Given the description of an element on the screen output the (x, y) to click on. 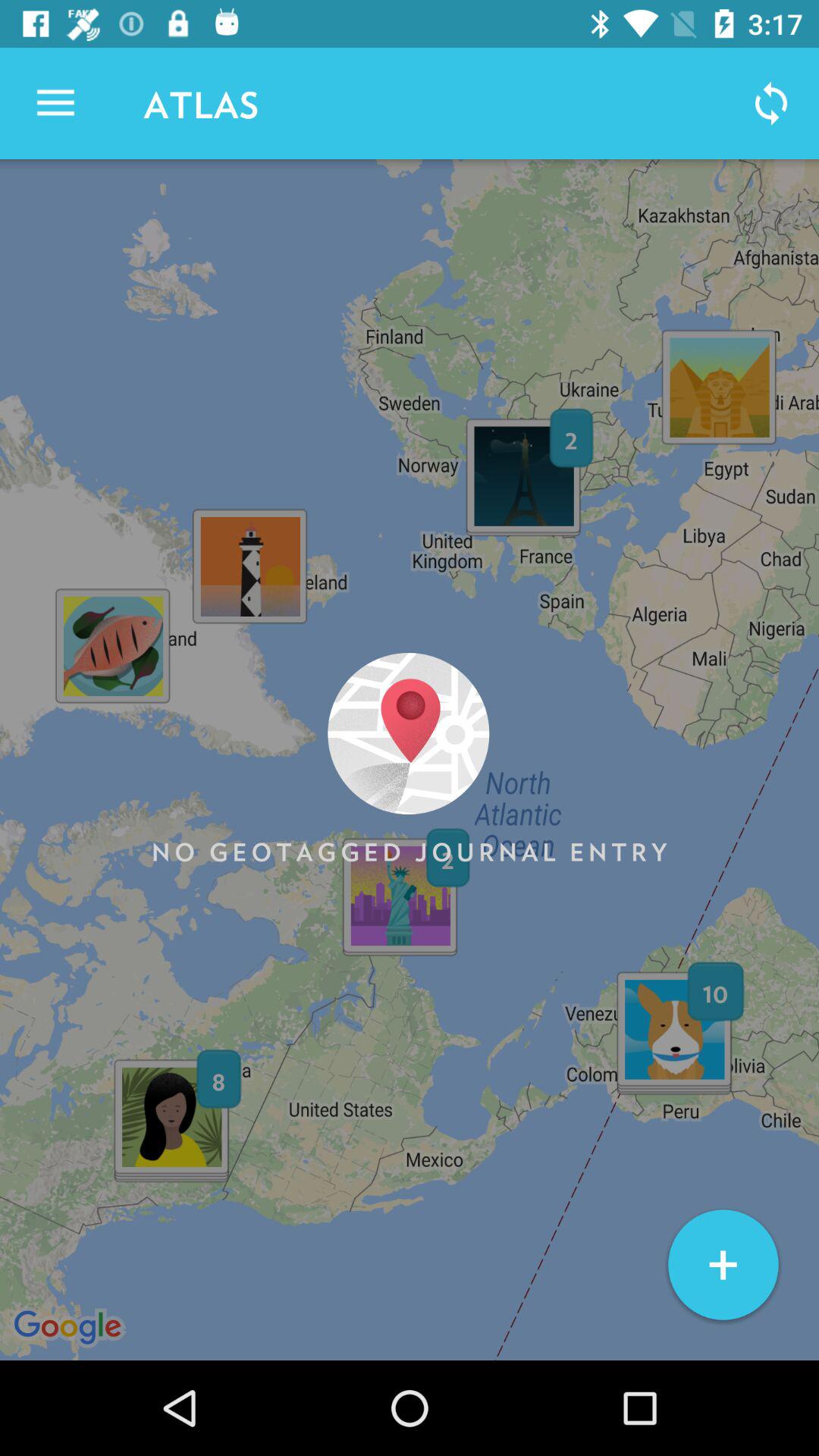
swipe to + item (723, 1264)
